Given the description of an element on the screen output the (x, y) to click on. 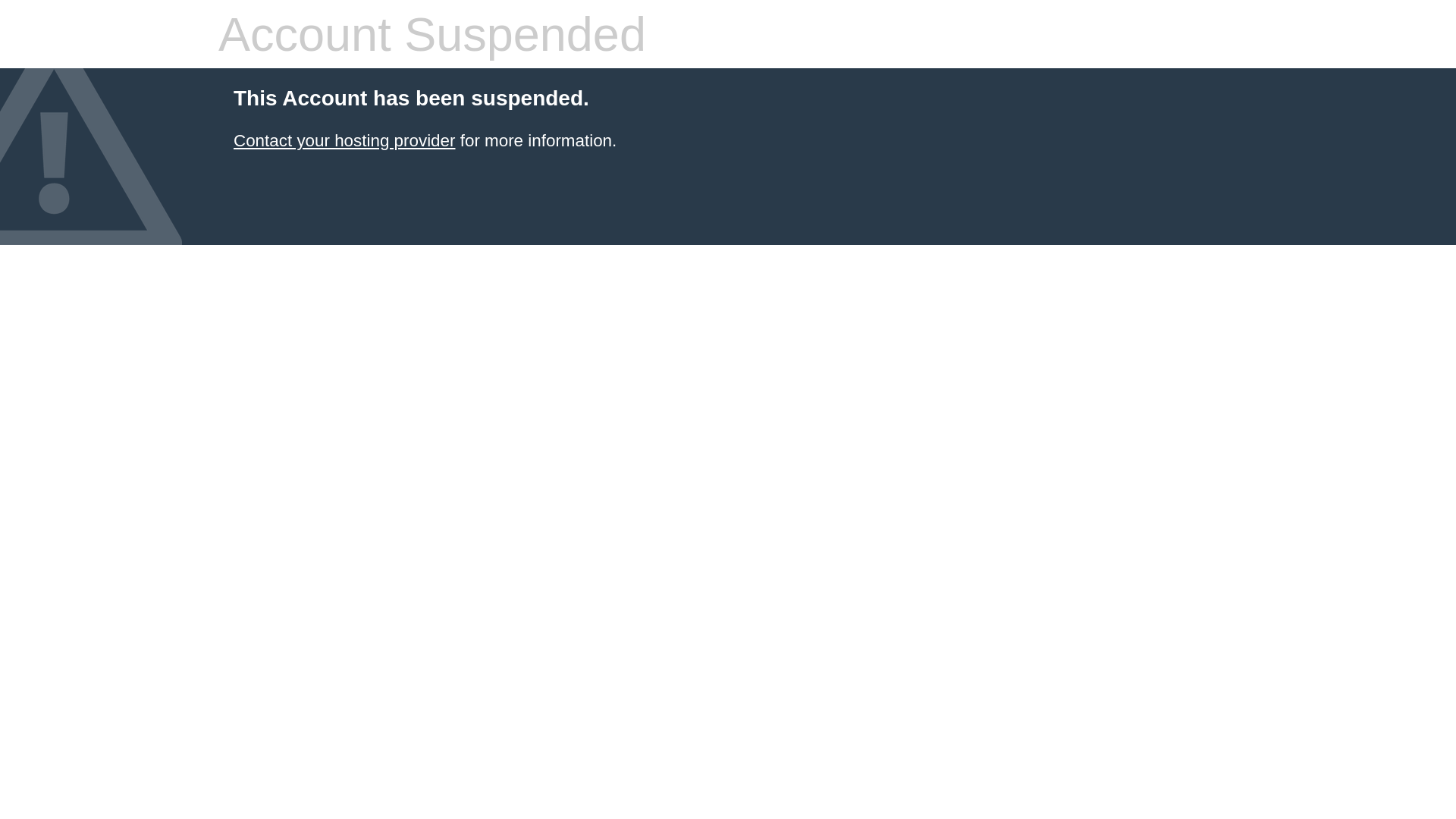
Contact your hosting provider Element type: text (344, 140)
